Given the description of an element on the screen output the (x, y) to click on. 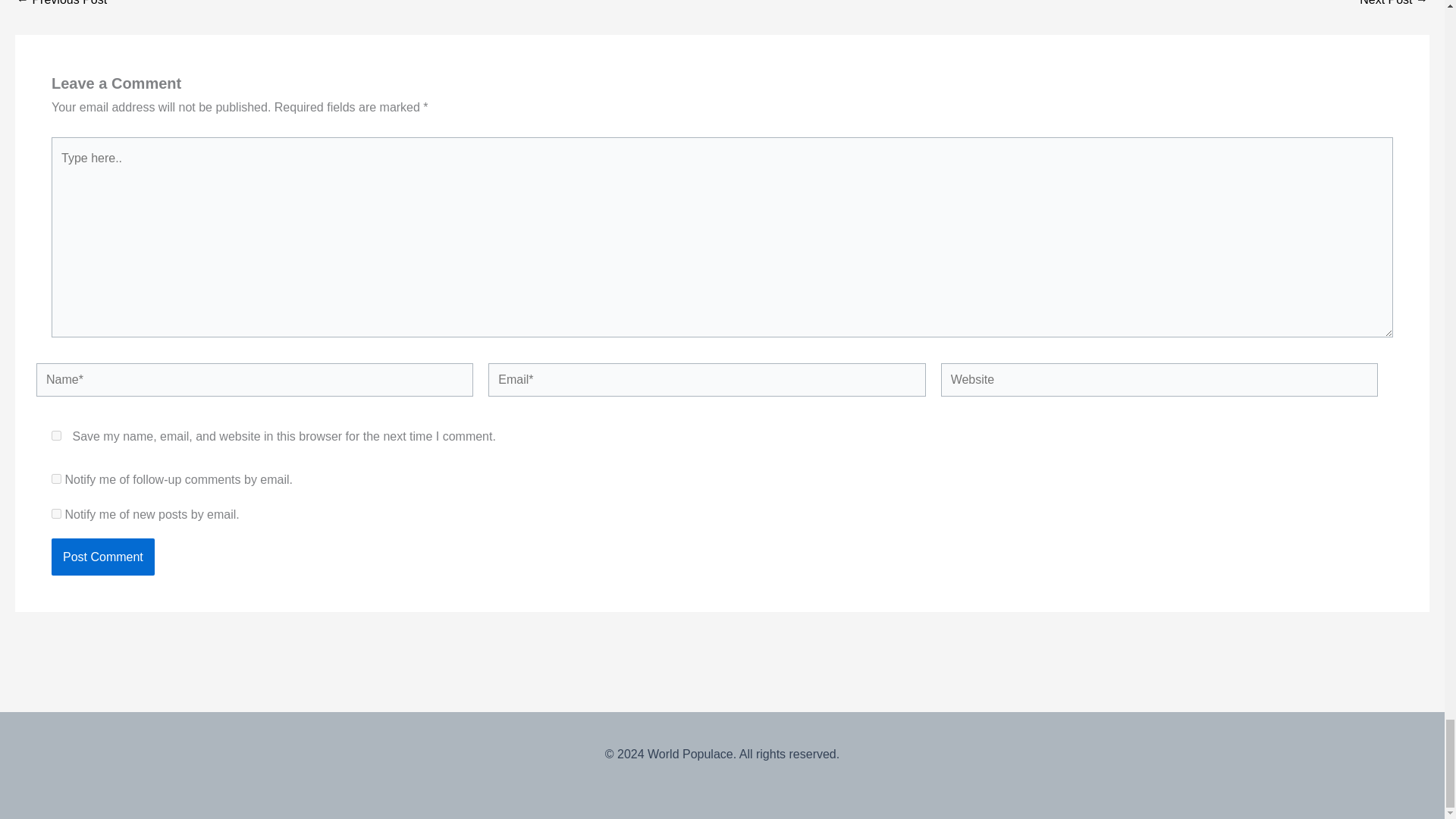
Post Comment (102, 557)
subscribe (55, 513)
subscribe (55, 479)
yes (55, 435)
